Given the description of an element on the screen output the (x, y) to click on. 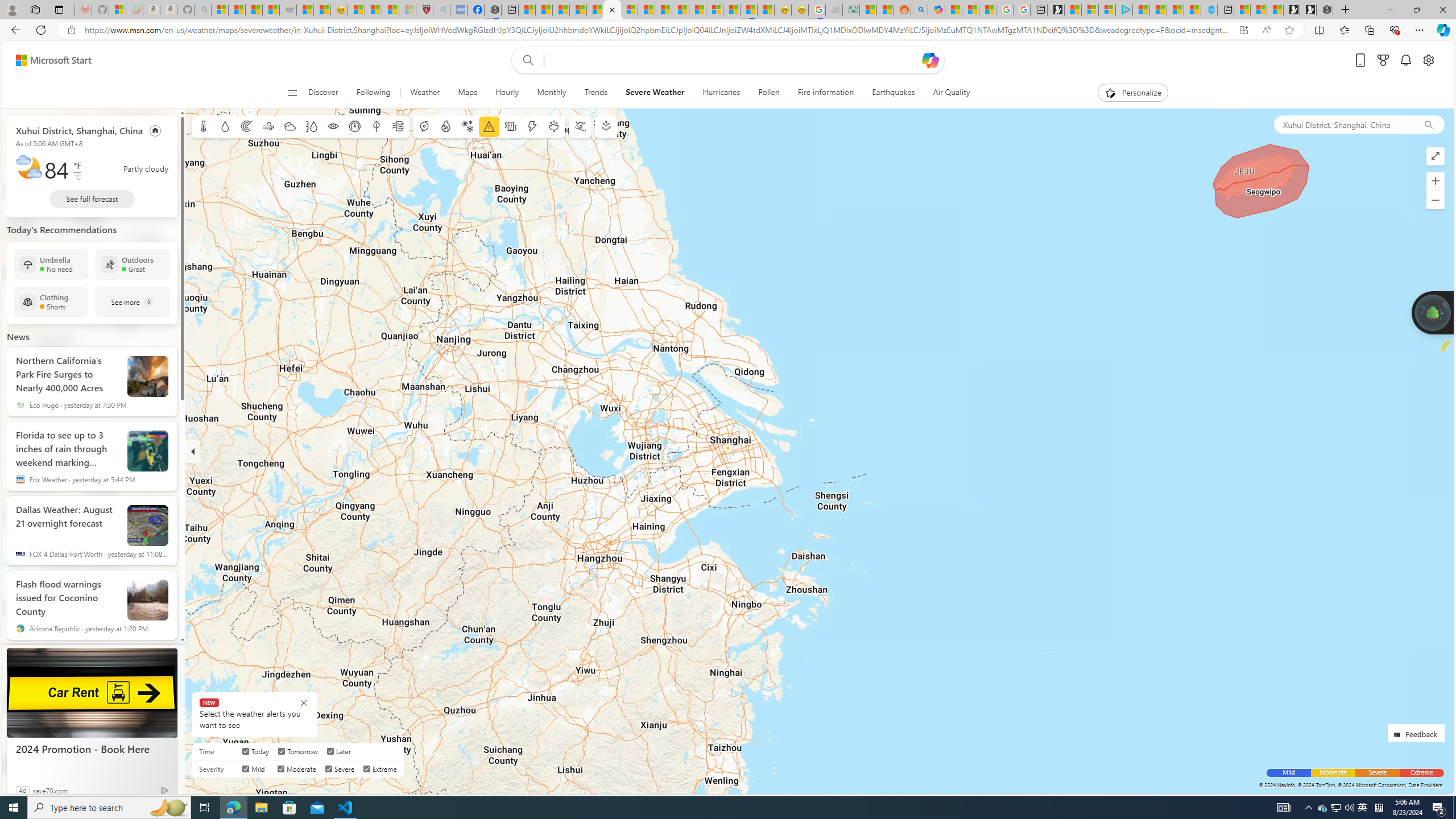
E-tree (605, 126)
Severe Weather (654, 92)
Sea level pressure (355, 126)
Outdoors Great (133, 264)
2024 Promotion - Book Here (92, 748)
